Given the description of an element on the screen output the (x, y) to click on. 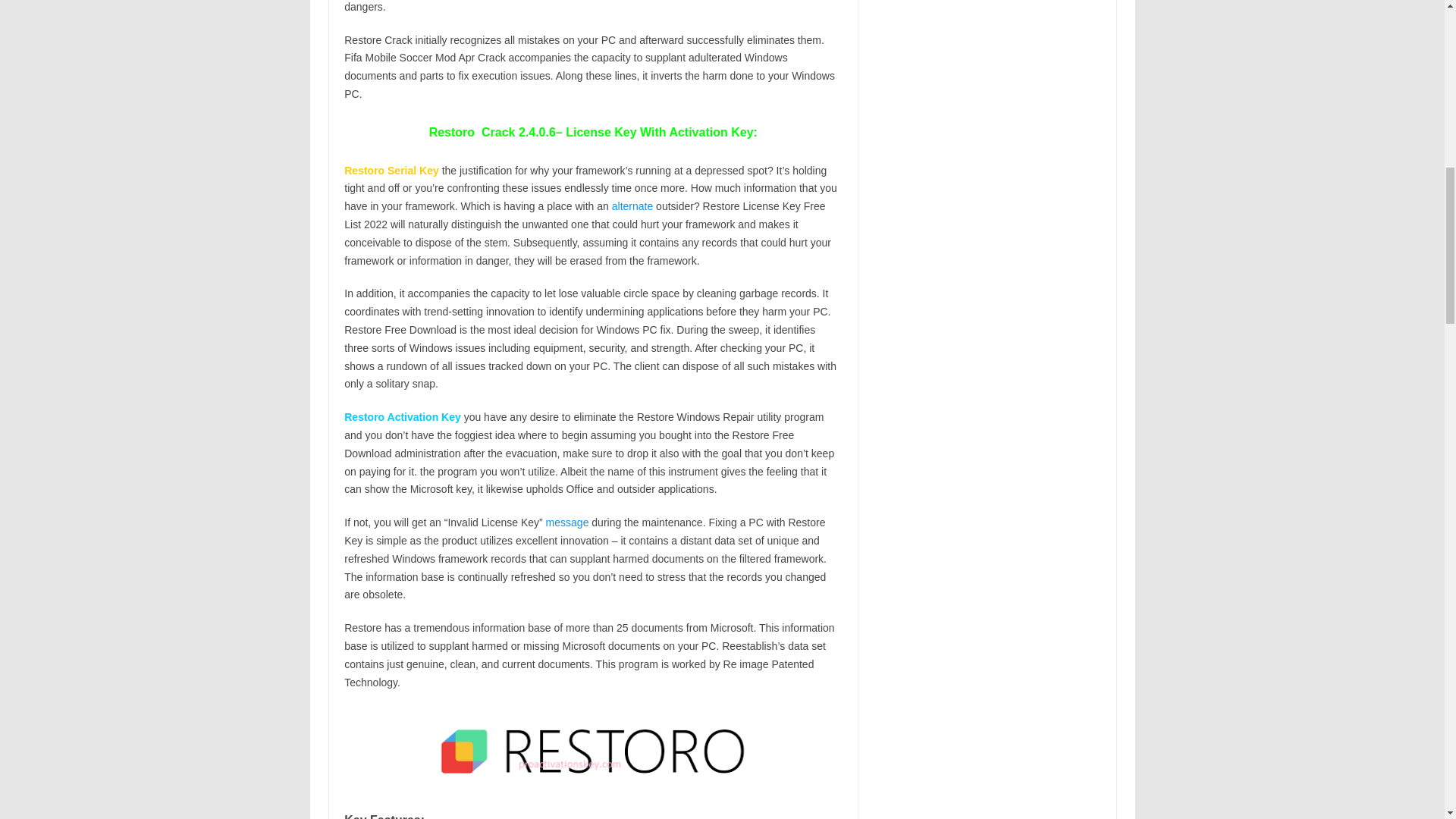
message (567, 522)
Restoro Serial Key (392, 170)
alternate (631, 205)
